Given the description of an element on the screen output the (x, y) to click on. 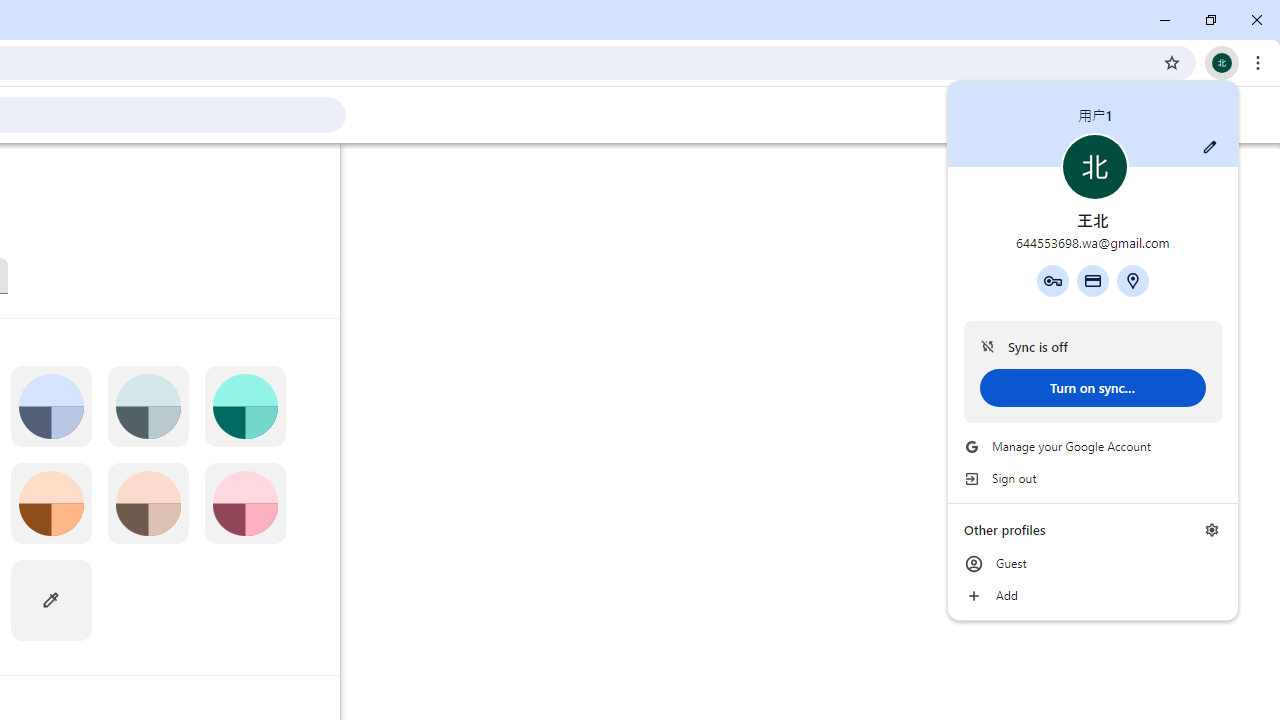
Google Password Manager (1052, 280)
Addresses and more (1133, 280)
Payment methods (1092, 280)
Manage your Google Account (1092, 446)
Manage profiles (1211, 529)
Sign out (1092, 478)
Add (1092, 596)
Customize profile (1210, 147)
Guest (1092, 563)
